Given the description of an element on the screen output the (x, y) to click on. 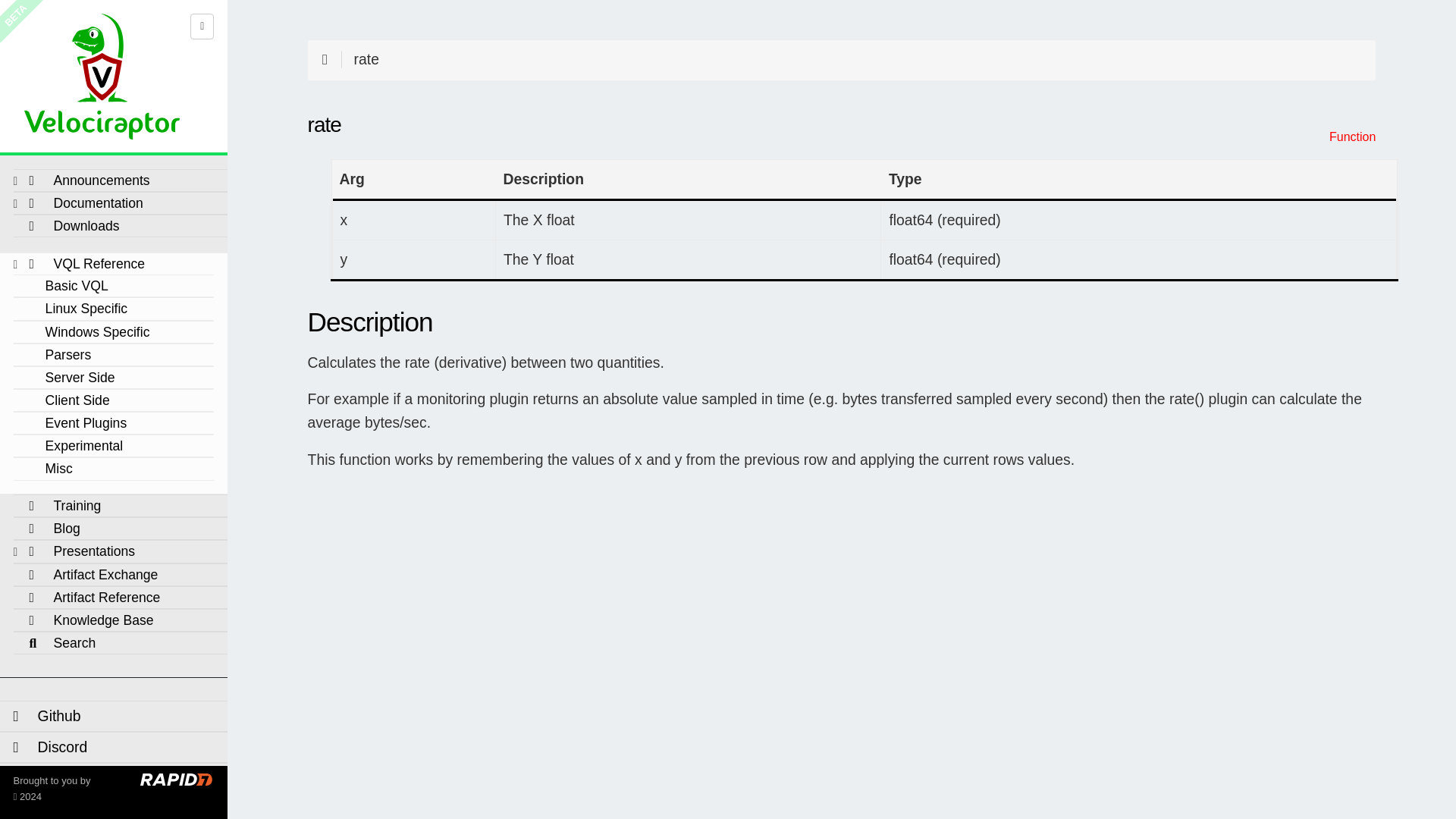
Documentation (85, 203)
Announcements (89, 180)
